Given the description of an element on the screen output the (x, y) to click on. 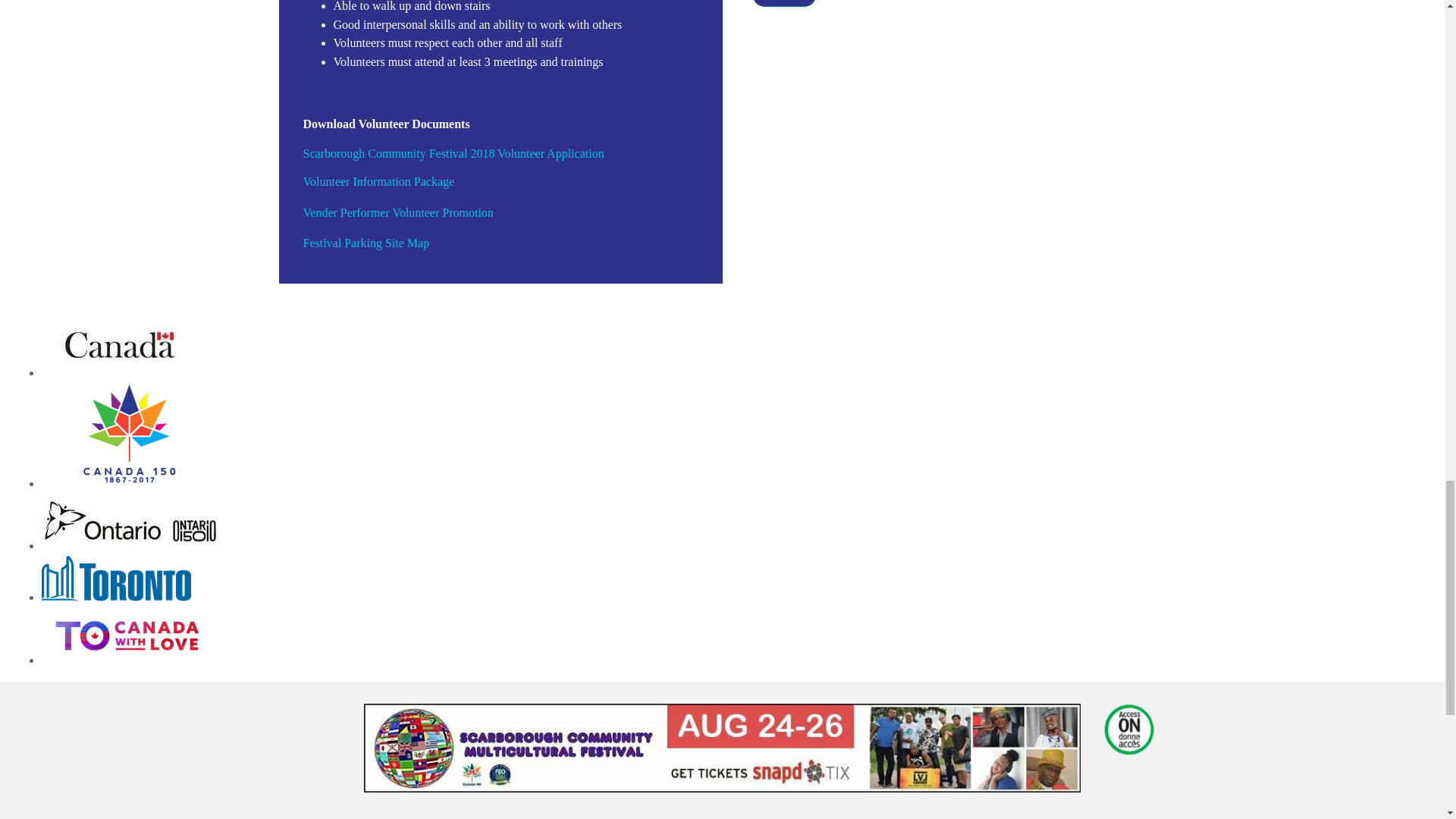
Volunteer Information Package (378, 181)
Send (783, 3)
Festival Parking Site Map (365, 242)
Send (783, 3)
Vender Performer Volunteer Promotion (397, 212)
Scarborough Community Festival 2018 Volunteer Application (453, 153)
